Given the description of an element on the screen output the (x, y) to click on. 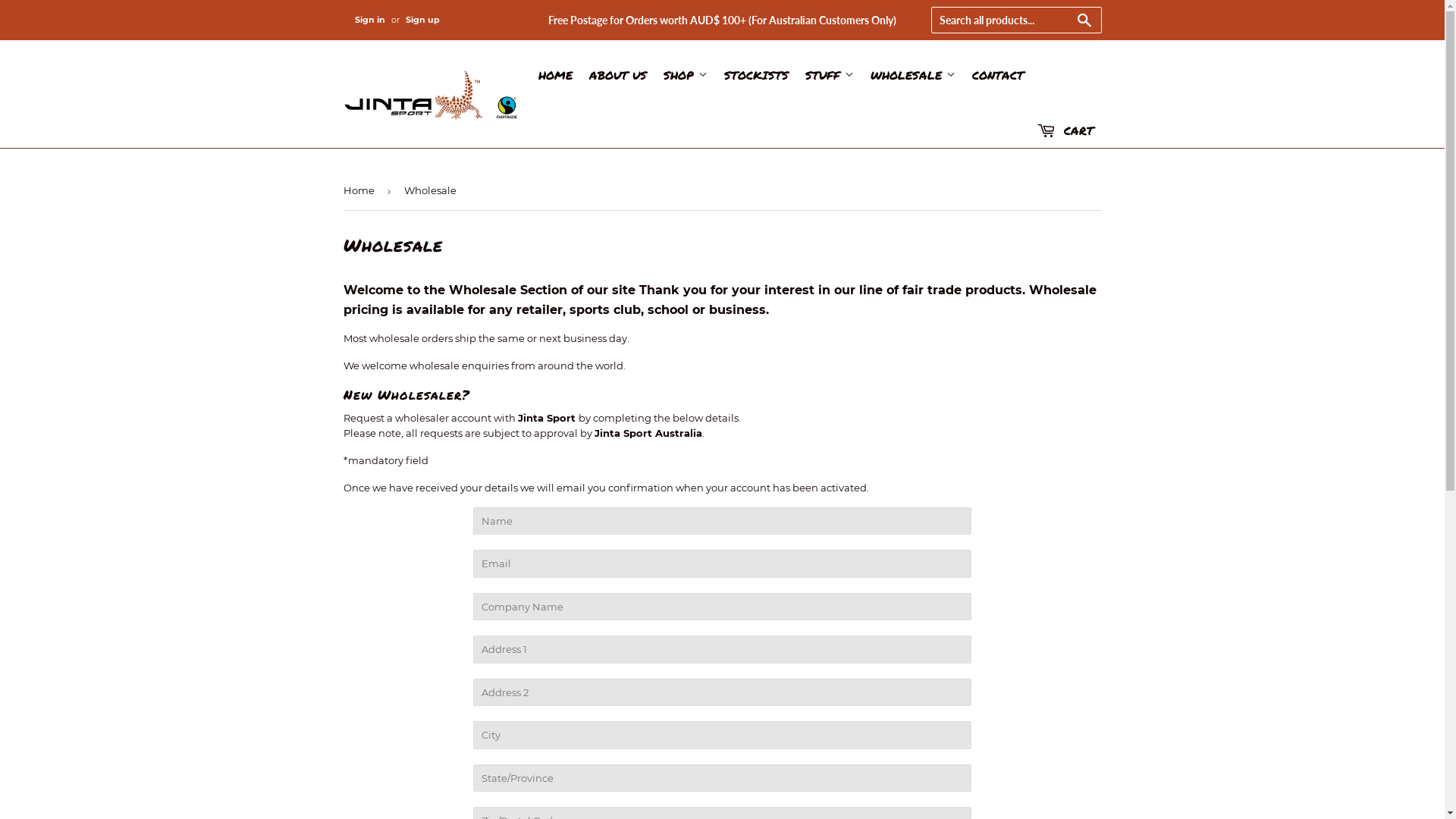
HOME Element type: text (555, 74)
CONTACT Element type: text (997, 74)
ABOUT US Element type: text (617, 74)
CART Element type: text (1065, 130)
Home Element type: text (360, 190)
Sign up Element type: text (421, 19)
STUFF Element type: text (829, 74)
WHOLESALE Element type: text (912, 74)
STOCKISTS Element type: text (756, 74)
Search Element type: text (1084, 20)
Sign in Element type: text (369, 19)
SHOP Element type: text (685, 74)
